Given the description of an element on the screen output the (x, y) to click on. 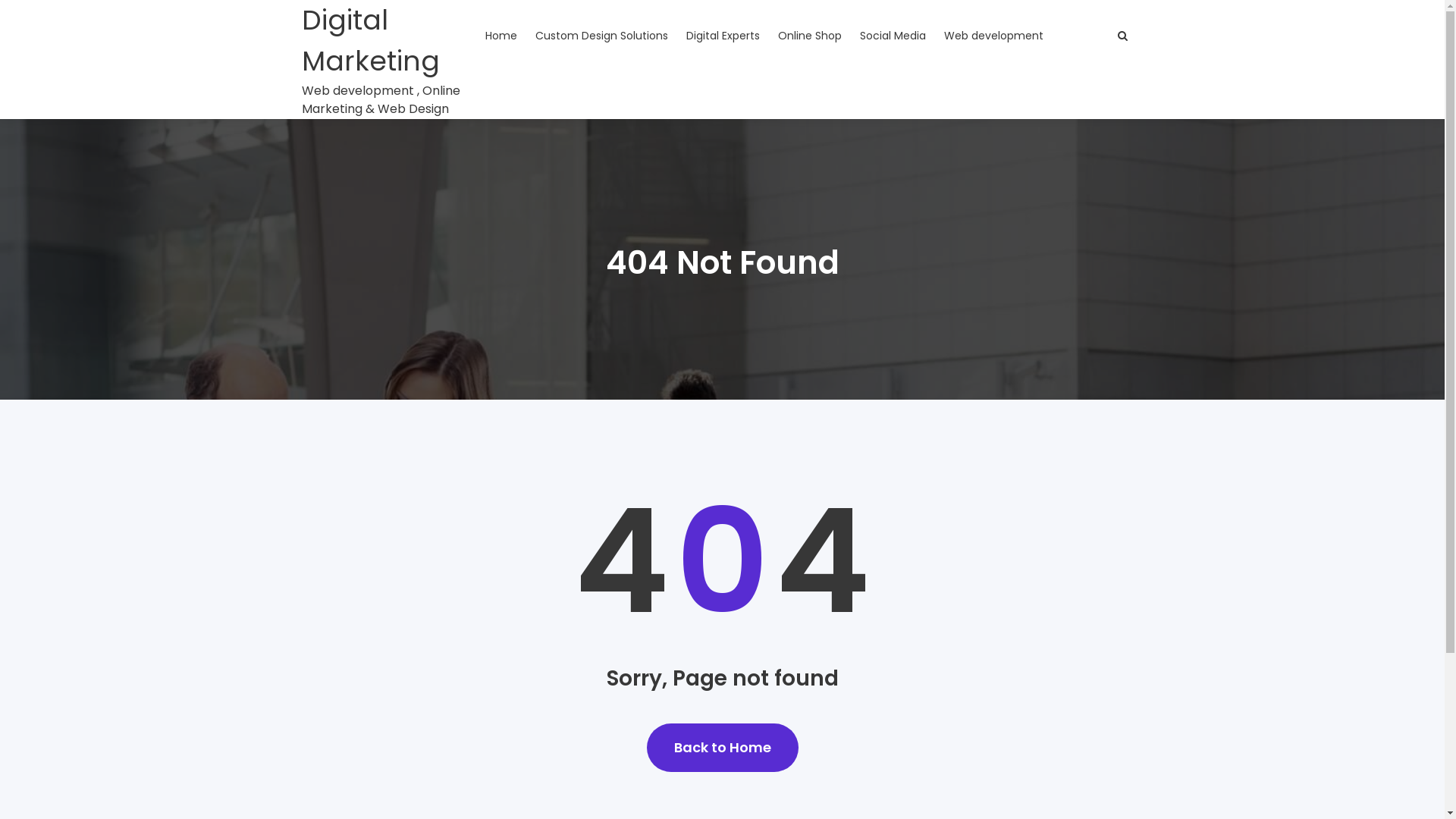
Social Media Element type: text (892, 36)
Home Element type: text (501, 36)
Digital Experts Element type: text (722, 36)
Web development Element type: text (992, 36)
Digital Marketing Element type: text (388, 40)
Custom Design Solutions Element type: text (601, 36)
Back to Home Element type: text (721, 747)
Online Shop Element type: text (809, 36)
